Given the description of an element on the screen output the (x, y) to click on. 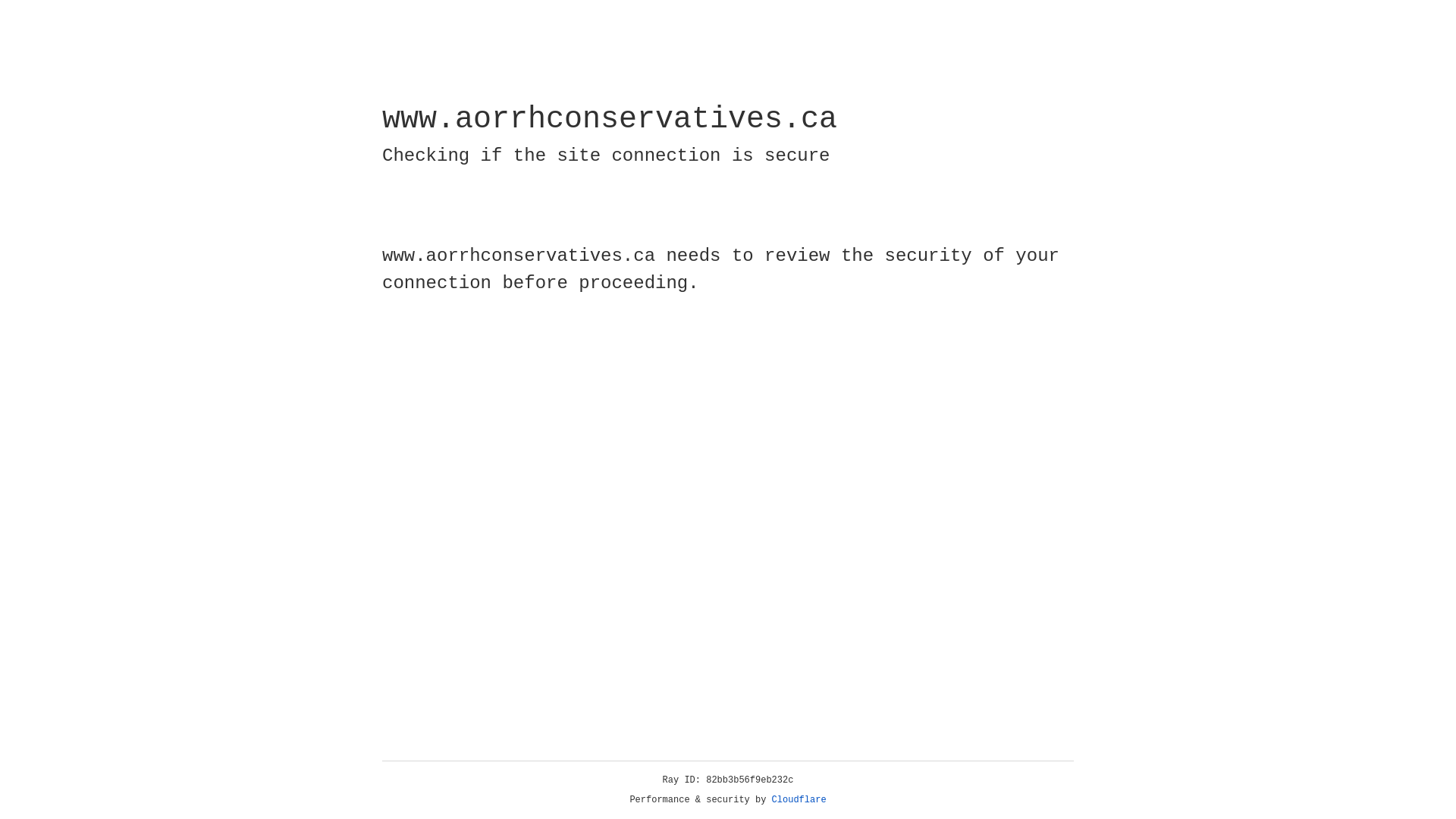
Cloudflare Element type: text (798, 799)
